Given the description of an element on the screen output the (x, y) to click on. 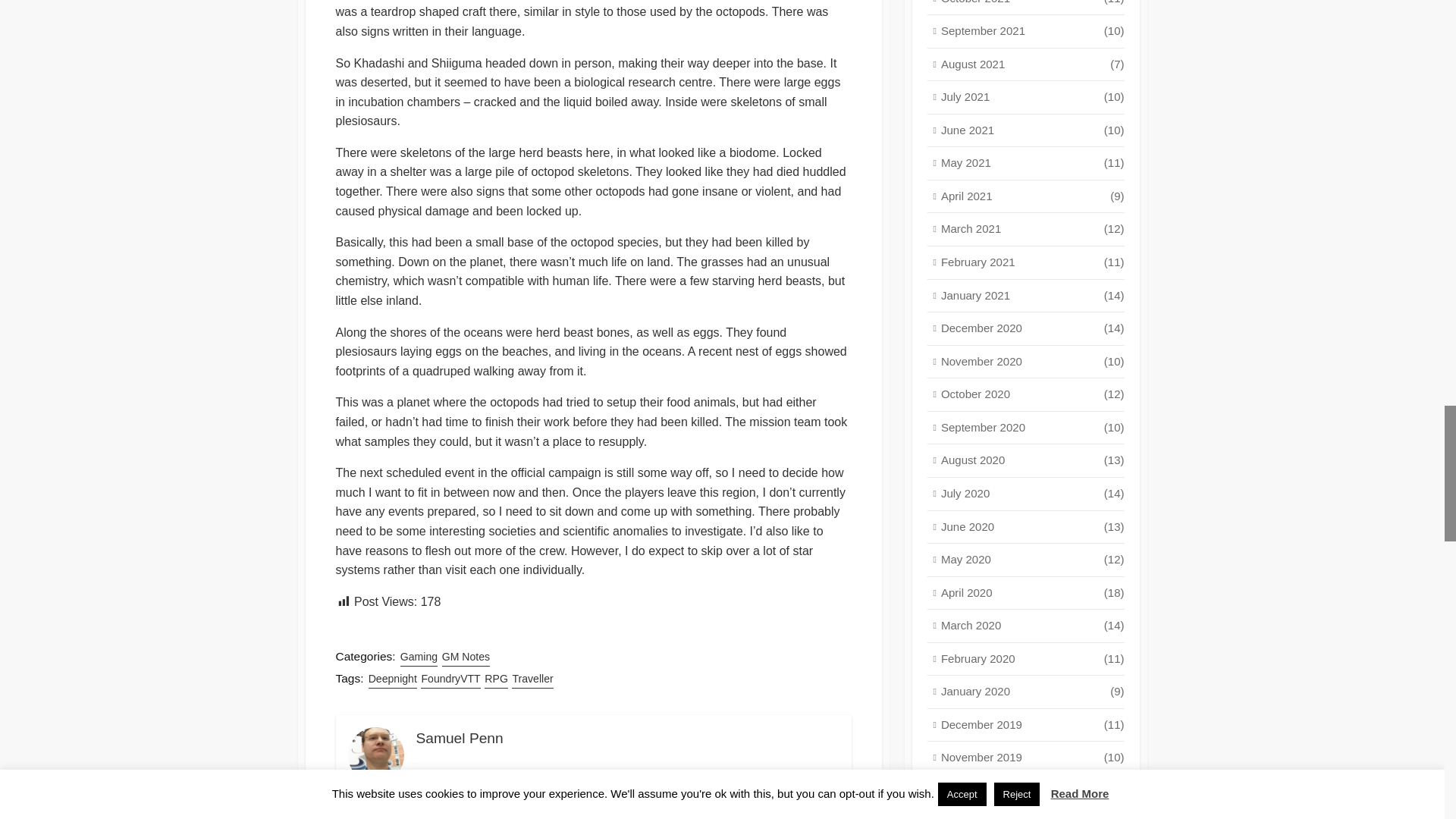
Traveller (532, 678)
FoundryVTT (450, 678)
Deepnight (392, 678)
RPG (496, 678)
Gaming (419, 656)
GM Notes (465, 656)
